Given the description of an element on the screen output the (x, y) to click on. 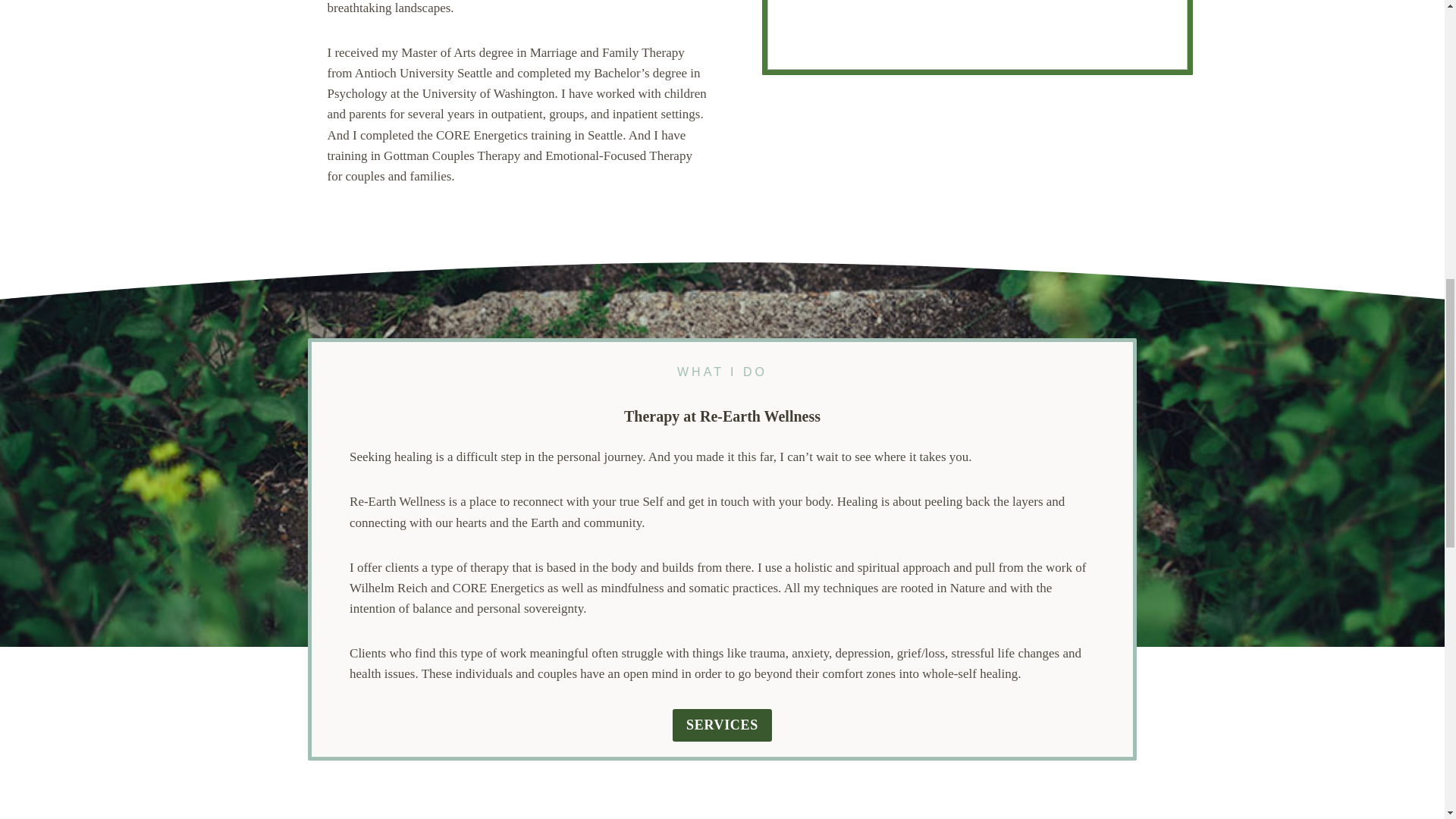
SERVICES (721, 725)
